Given the description of an element on the screen output the (x, y) to click on. 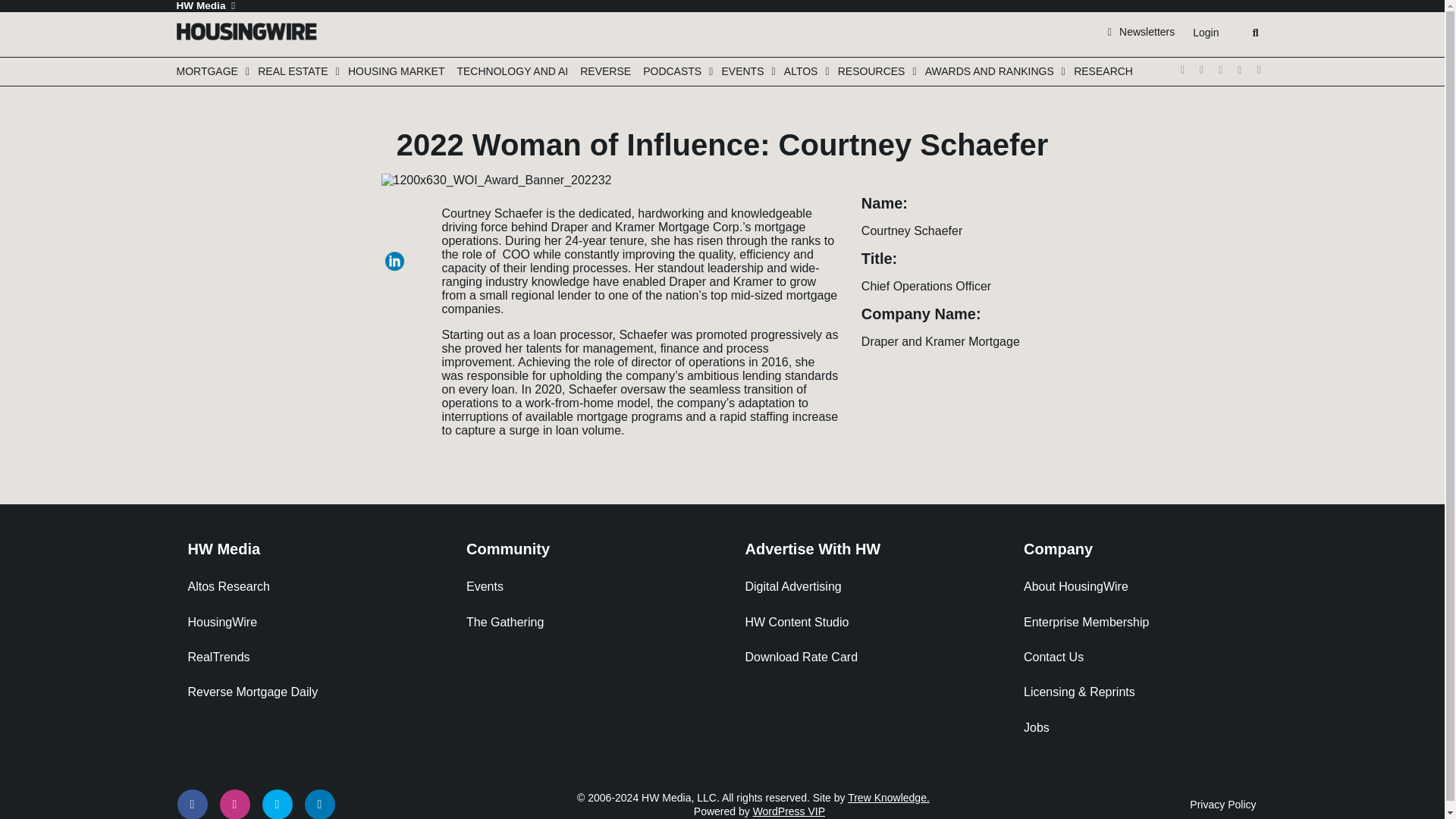
Newsletters (1141, 31)
Click to email a link to a friend (398, 277)
Login (1205, 32)
Click to share on LinkedIn (398, 254)
Click to copy link (398, 299)
Click to share on Facebook (398, 231)
Click to share on Twitter (398, 208)
